Given the description of an element on the screen output the (x, y) to click on. 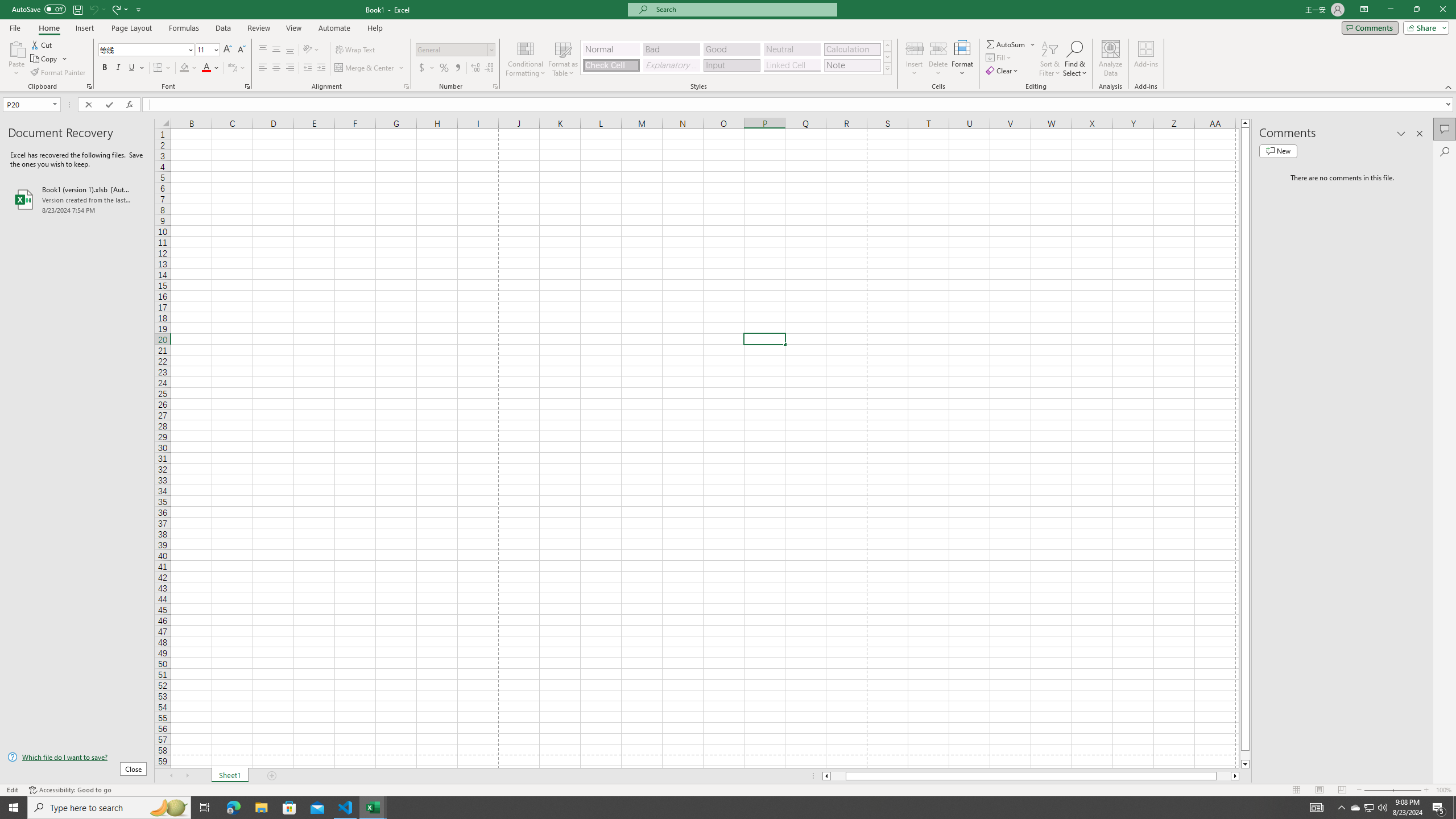
Formulas (184, 28)
Close (1442, 9)
Decrease Indent (307, 67)
Which file do I want to save? (77, 757)
File Tab (15, 27)
Line up (1245, 122)
Increase Font Size (227, 49)
Linked Cell (791, 65)
Clear (1003, 69)
Page down (1245, 755)
Line down (1245, 764)
Input (731, 65)
AutoSave (38, 9)
Top Align (262, 49)
